Given the description of an element on the screen output the (x, y) to click on. 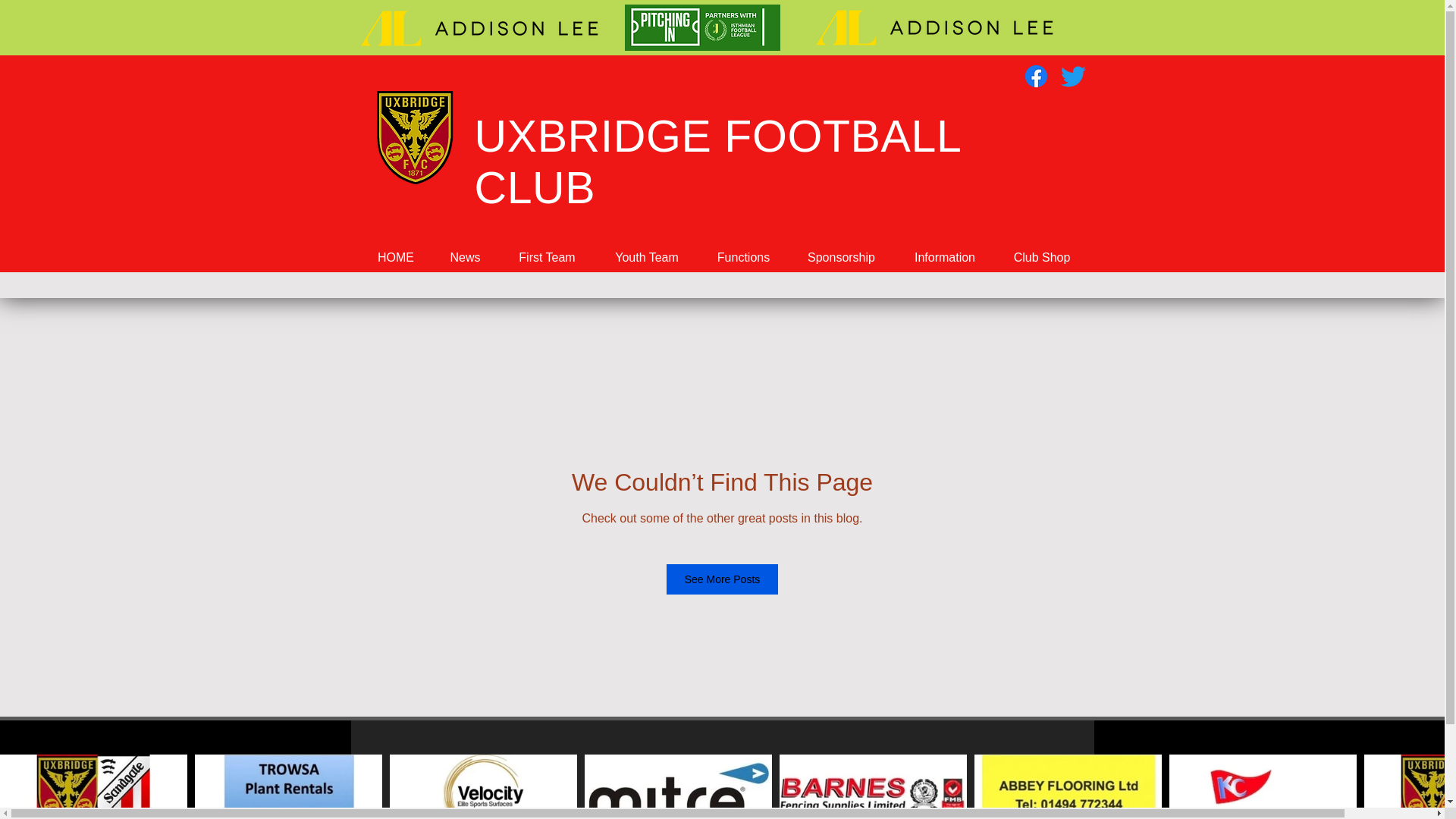
Functions (742, 256)
News (463, 256)
HOME (395, 256)
Club Shop (1040, 256)
See More Posts (722, 579)
Sponsorship (841, 256)
